Given the description of an element on the screen output the (x, y) to click on. 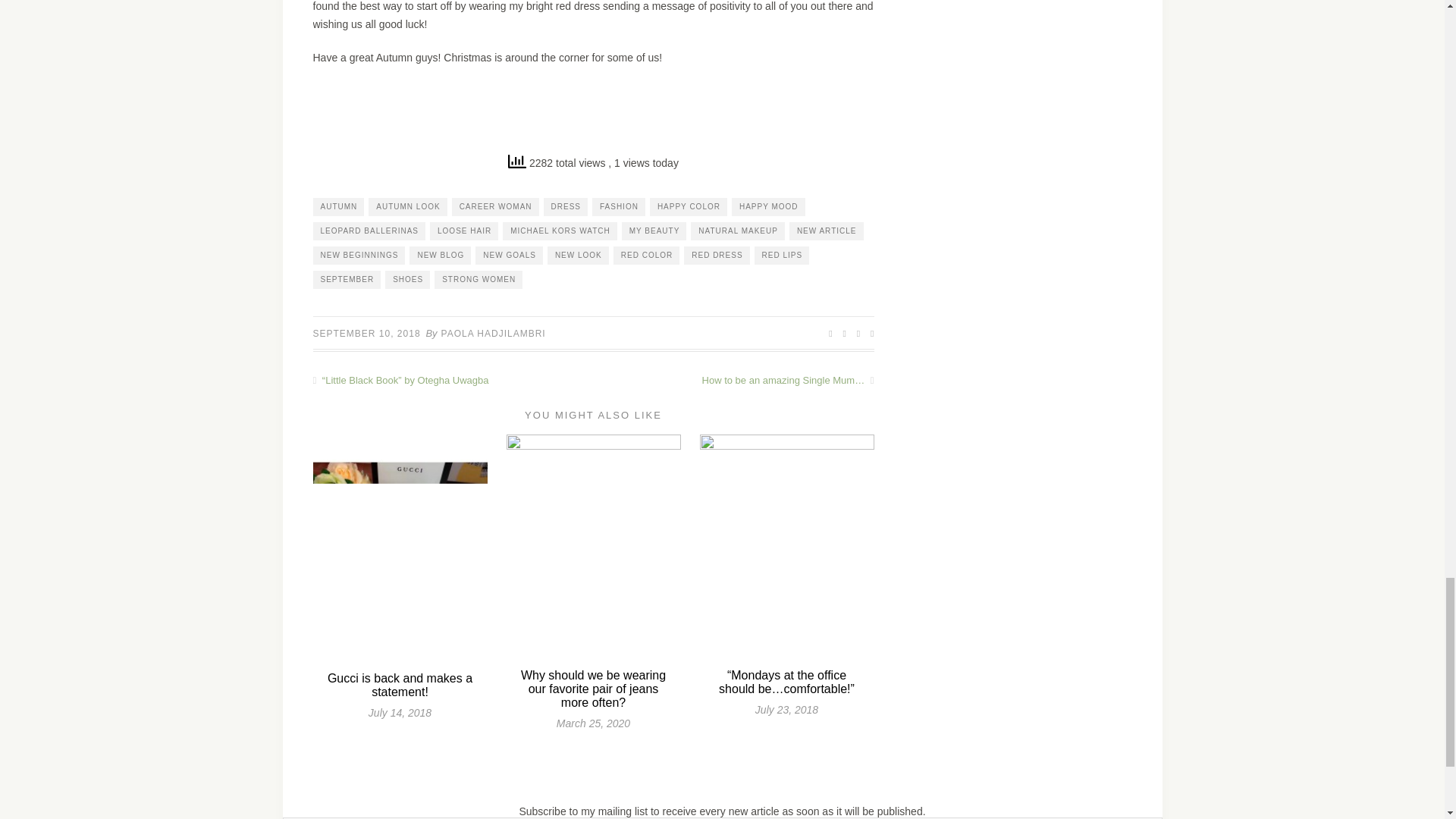
FASHION (618, 207)
AUTUMN LOOK (407, 207)
HAPPY COLOR (687, 207)
AUTUMN (338, 207)
Posts by Paola Hadjilambri (493, 333)
CAREER WOMAN (494, 207)
HAPPY MOOD (768, 207)
DRESS (565, 207)
